Given the description of an element on the screen output the (x, y) to click on. 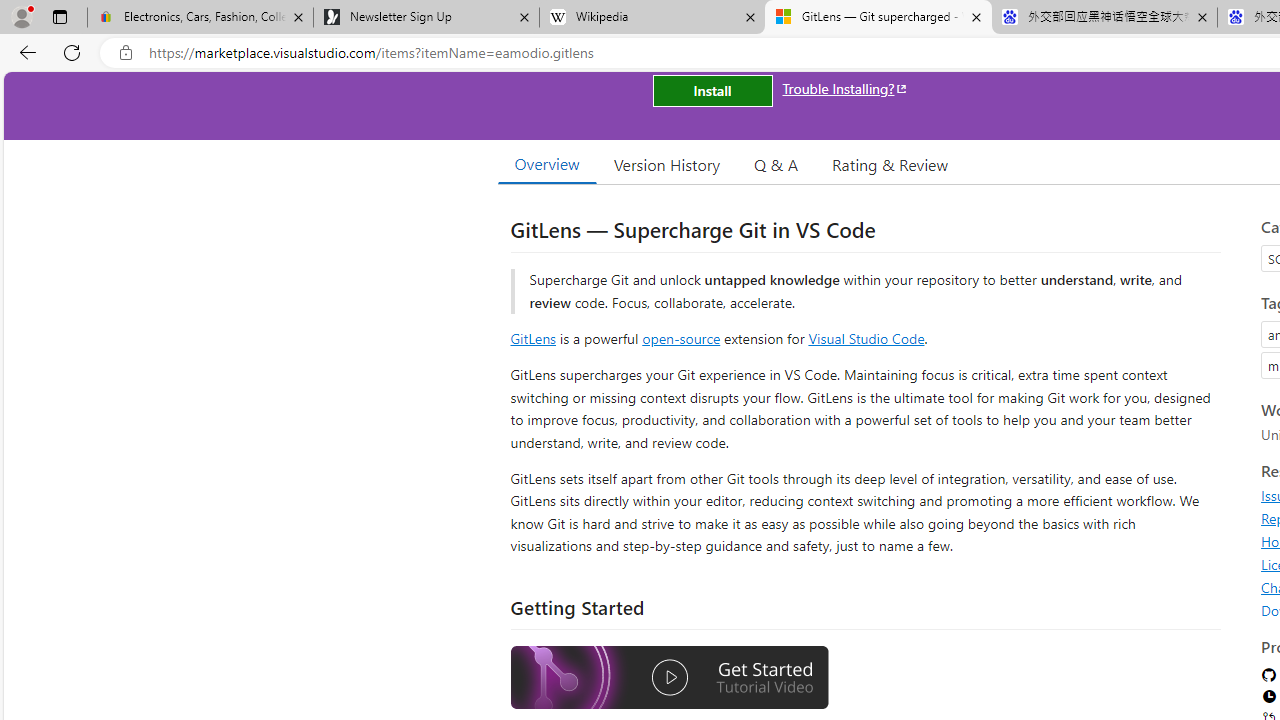
GitLens (532, 337)
Install (712, 90)
Watch the GitLens Getting Started video (669, 678)
